Given the description of an element on the screen output the (x, y) to click on. 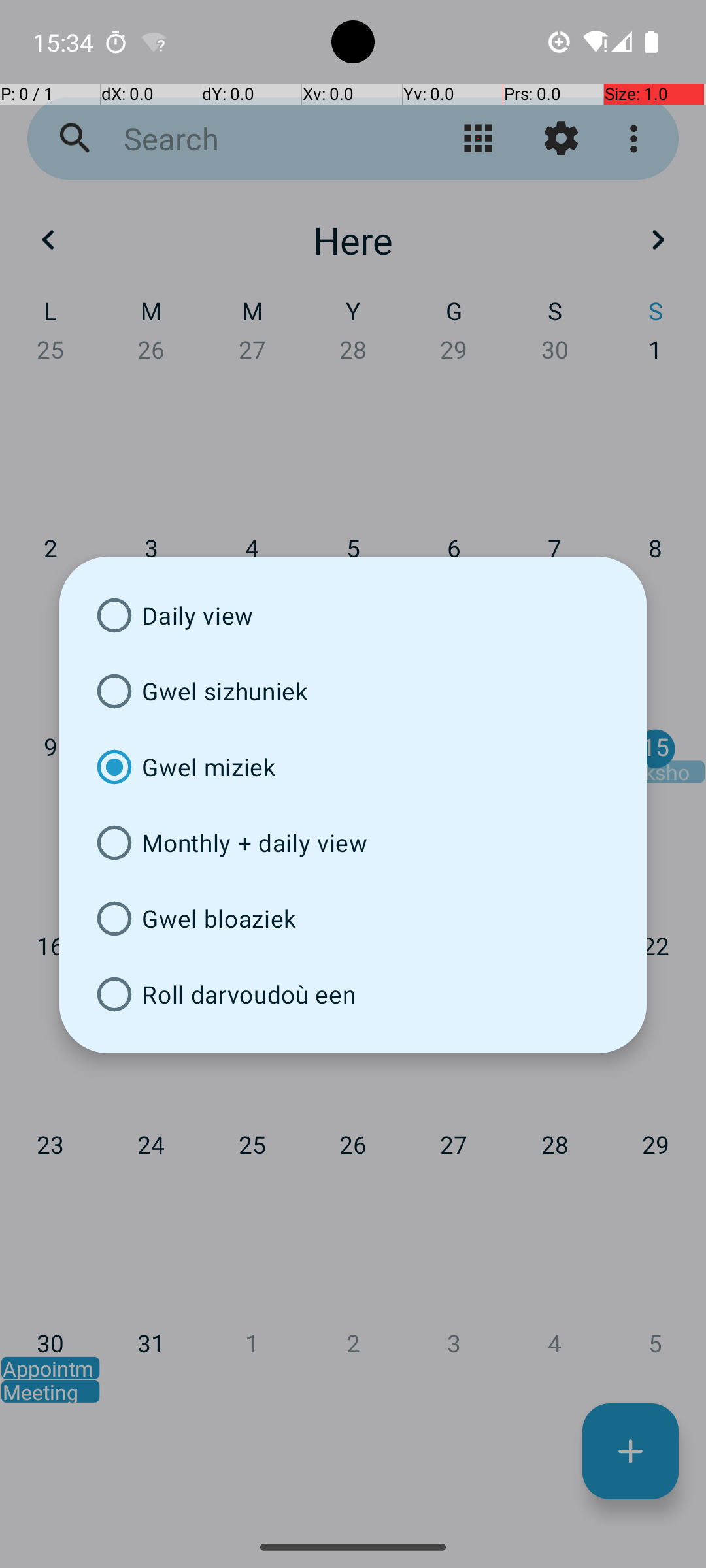
Gwel sizhuniek Element type: android.widget.RadioButton (352, 691)
Gwel miziek Element type: android.widget.RadioButton (352, 766)
Monthly + daily view Element type: android.widget.RadioButton (352, 842)
Gwel bloaziek Element type: android.widget.RadioButton (352, 918)
Roll darvoudoù een Element type: android.widget.RadioButton (352, 994)
